Given the description of an element on the screen output the (x, y) to click on. 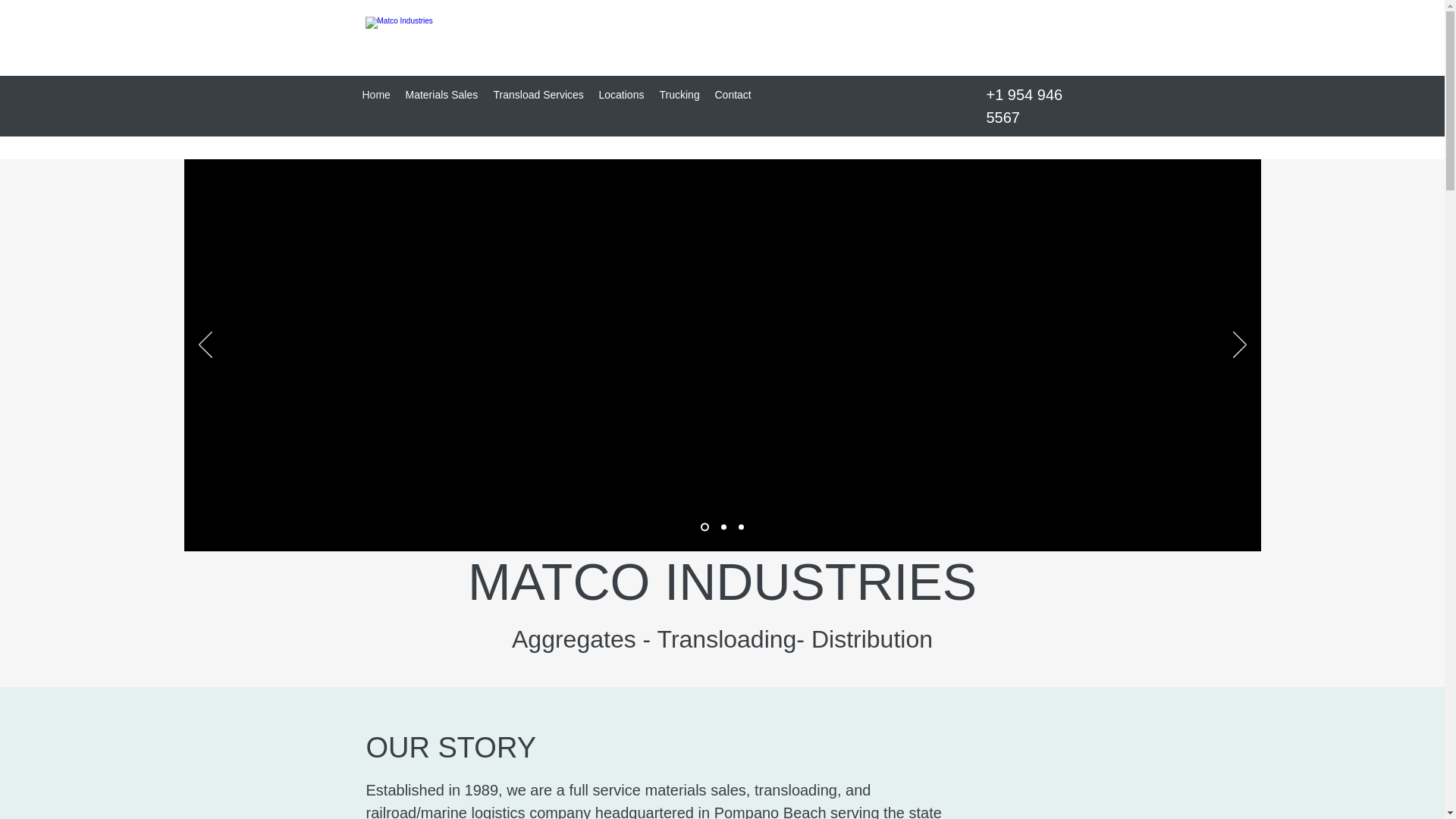
Locations (621, 94)
Trucking (679, 94)
Home (376, 94)
Materials Sales (440, 94)
Transload Services (537, 94)
Contact (732, 94)
